Given the description of an element on the screen output the (x, y) to click on. 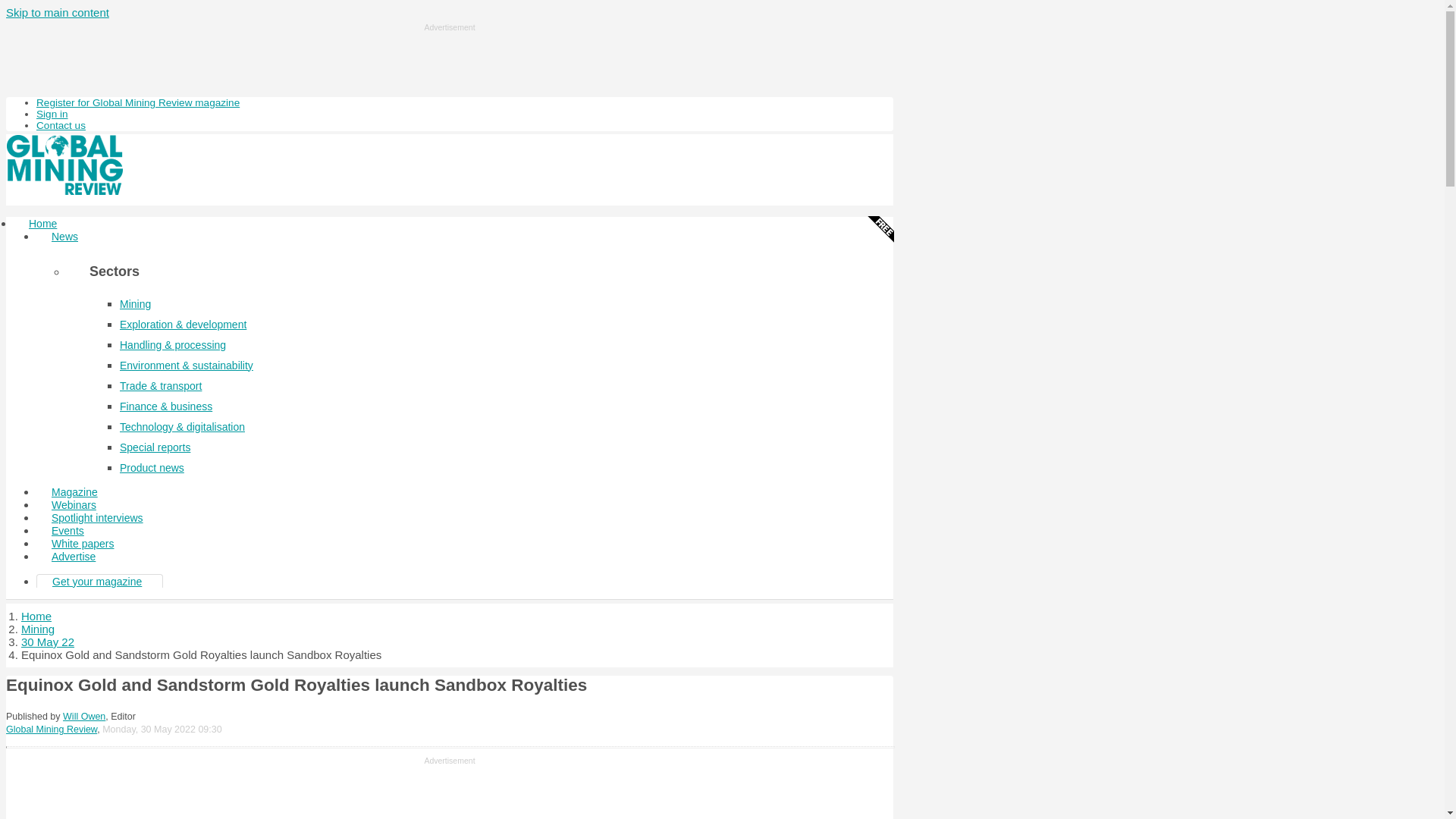
Product news (151, 467)
Skip to main content (57, 11)
Mining (38, 628)
Sign in (52, 113)
Contact us (60, 125)
Magazine (74, 492)
White papers (82, 543)
Register for Global Mining Review magazine (138, 102)
Sign in (52, 113)
Webinars (74, 504)
